Given the description of an element on the screen output the (x, y) to click on. 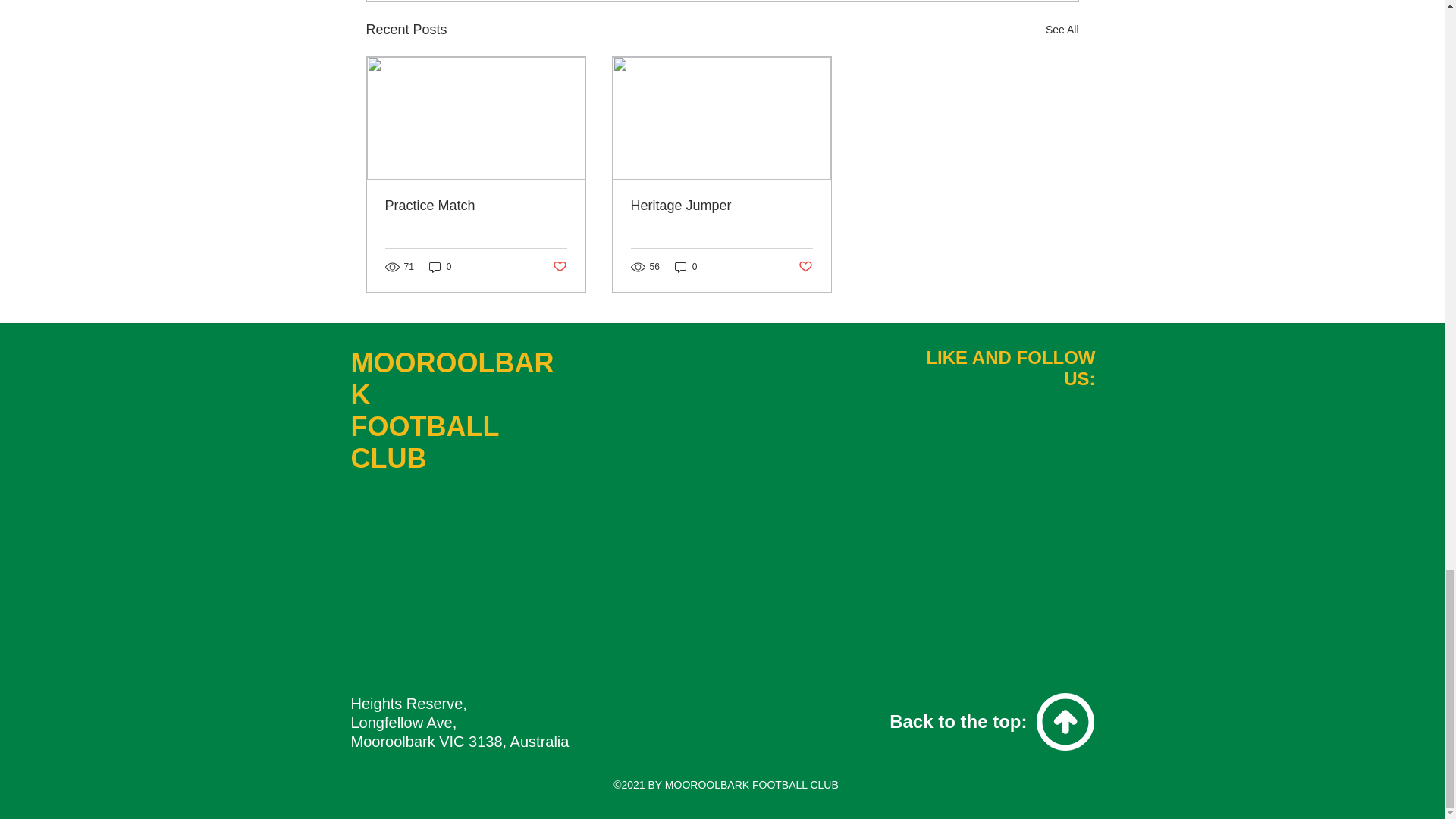
See All (1061, 29)
Practice Match (476, 205)
0 (440, 267)
Post not marked as liked (558, 267)
